Given the description of an element on the screen output the (x, y) to click on. 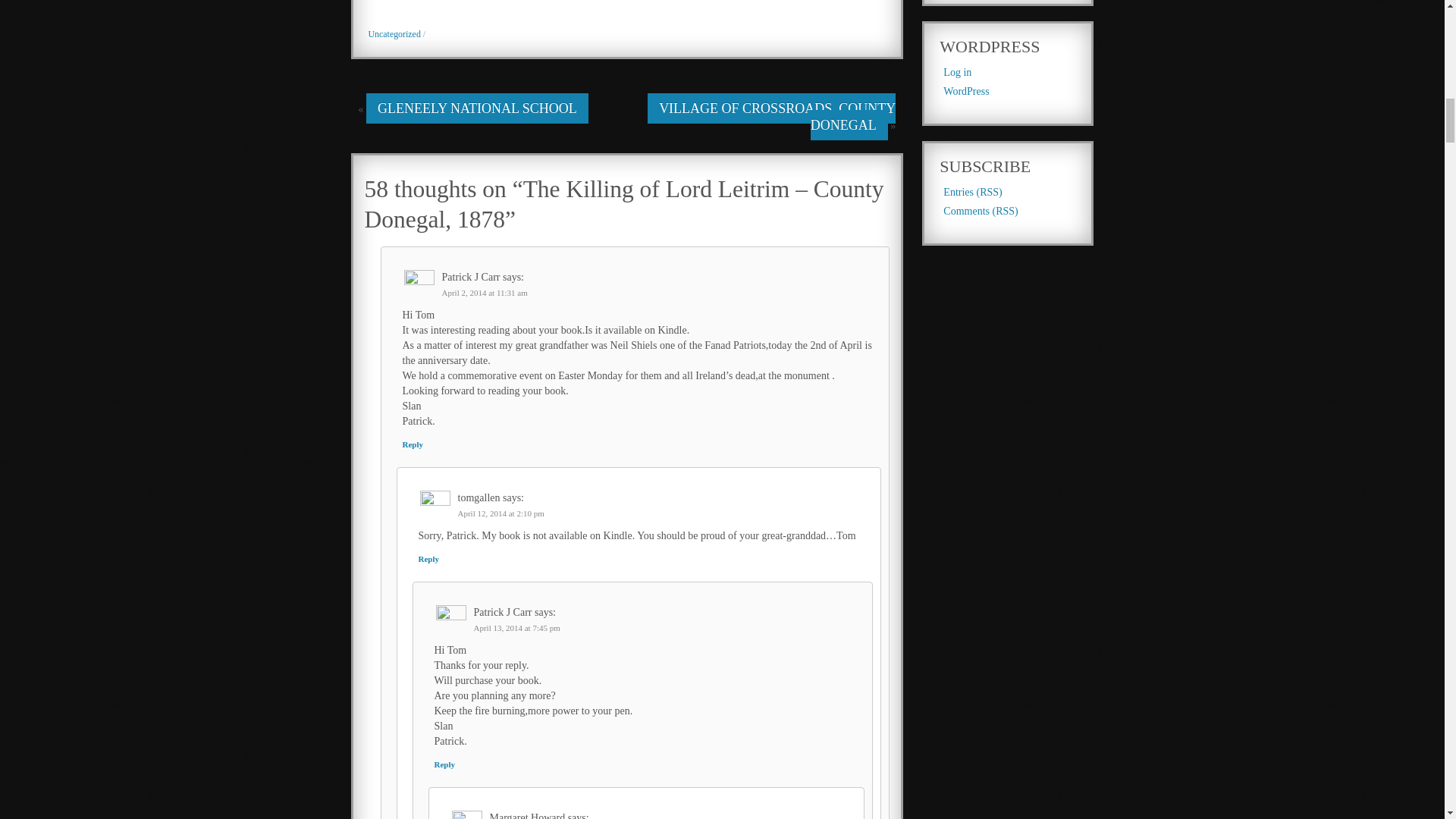
Reply (412, 443)
Uncategorized (394, 33)
Reply (443, 764)
April 12, 2014 at 2:10 pm (501, 512)
VILLAGE OF CROSSROADS, COUNTY DONEGAL (771, 116)
April 13, 2014 at 7:45 pm (516, 627)
April 2, 2014 at 11:31 am (484, 292)
Reply (429, 558)
GLENEELY NATIONAL SCHOOL (477, 108)
